Given the description of an element on the screen output the (x, y) to click on. 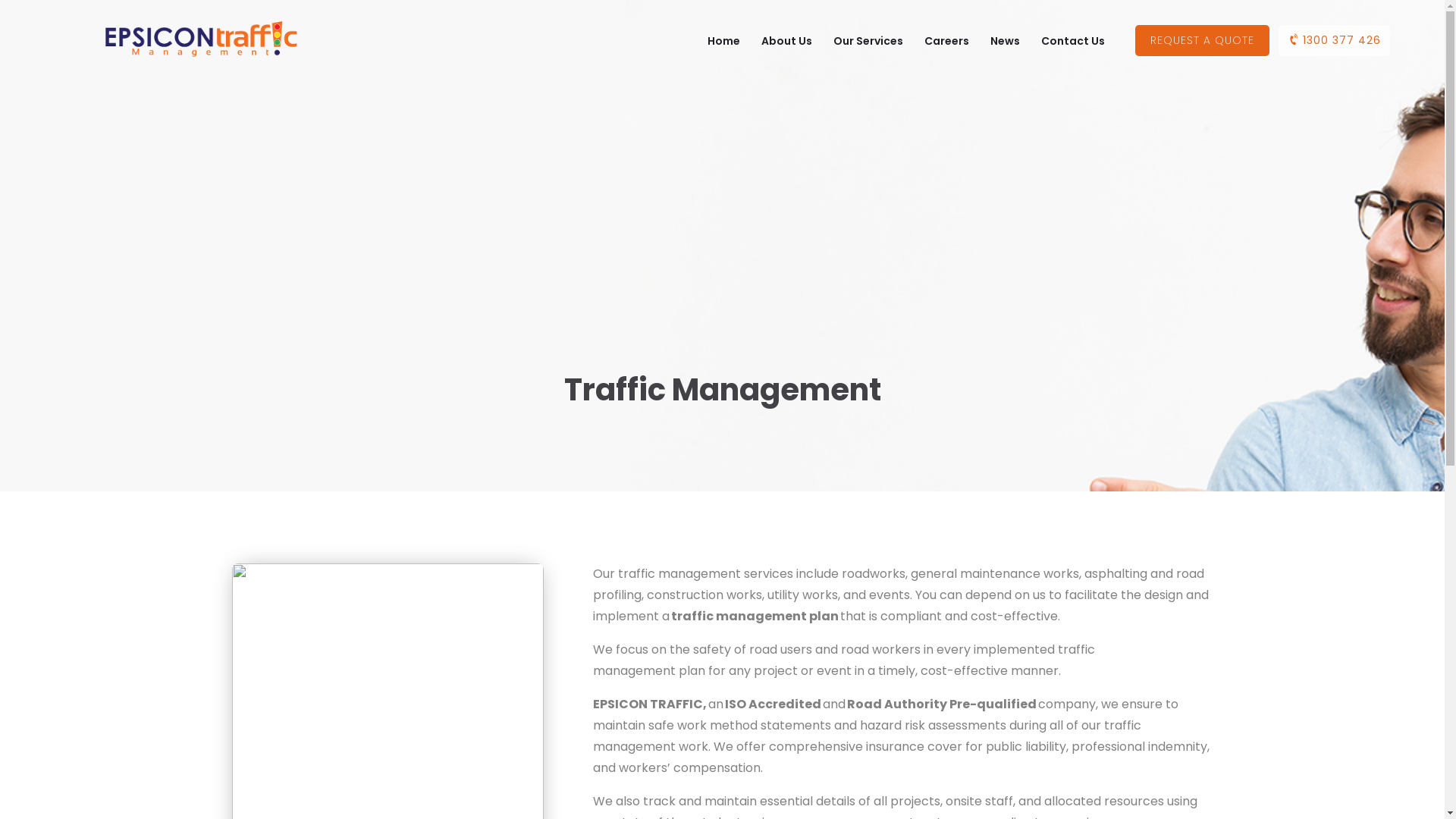
Contact Us Element type: text (1072, 41)
About Us Element type: text (786, 41)
Home Element type: text (723, 41)
Careers Element type: text (946, 41)
Our Services Element type: text (868, 41)
News Element type: text (1005, 41)
1300 377 426 Element type: text (1334, 40)
REQUEST A QUOTE Element type: text (1202, 40)
